Given the description of an element on the screen output the (x, y) to click on. 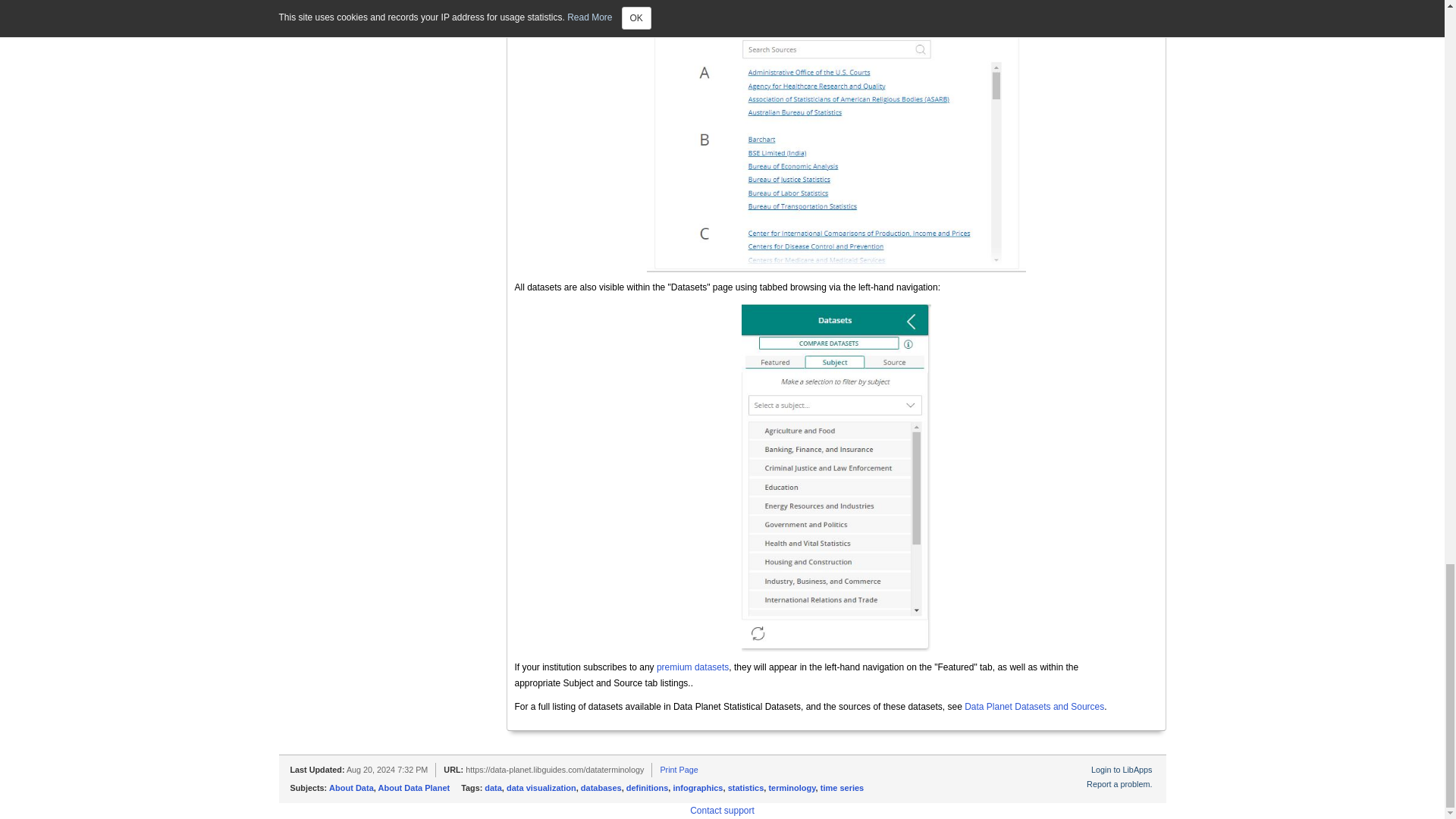
Report a problem. (1118, 783)
premium datasets (692, 666)
Login to LibApps (1120, 768)
Data Planet Datasets and Sources (1033, 706)
Print Page (678, 768)
